Given the description of an element on the screen output the (x, y) to click on. 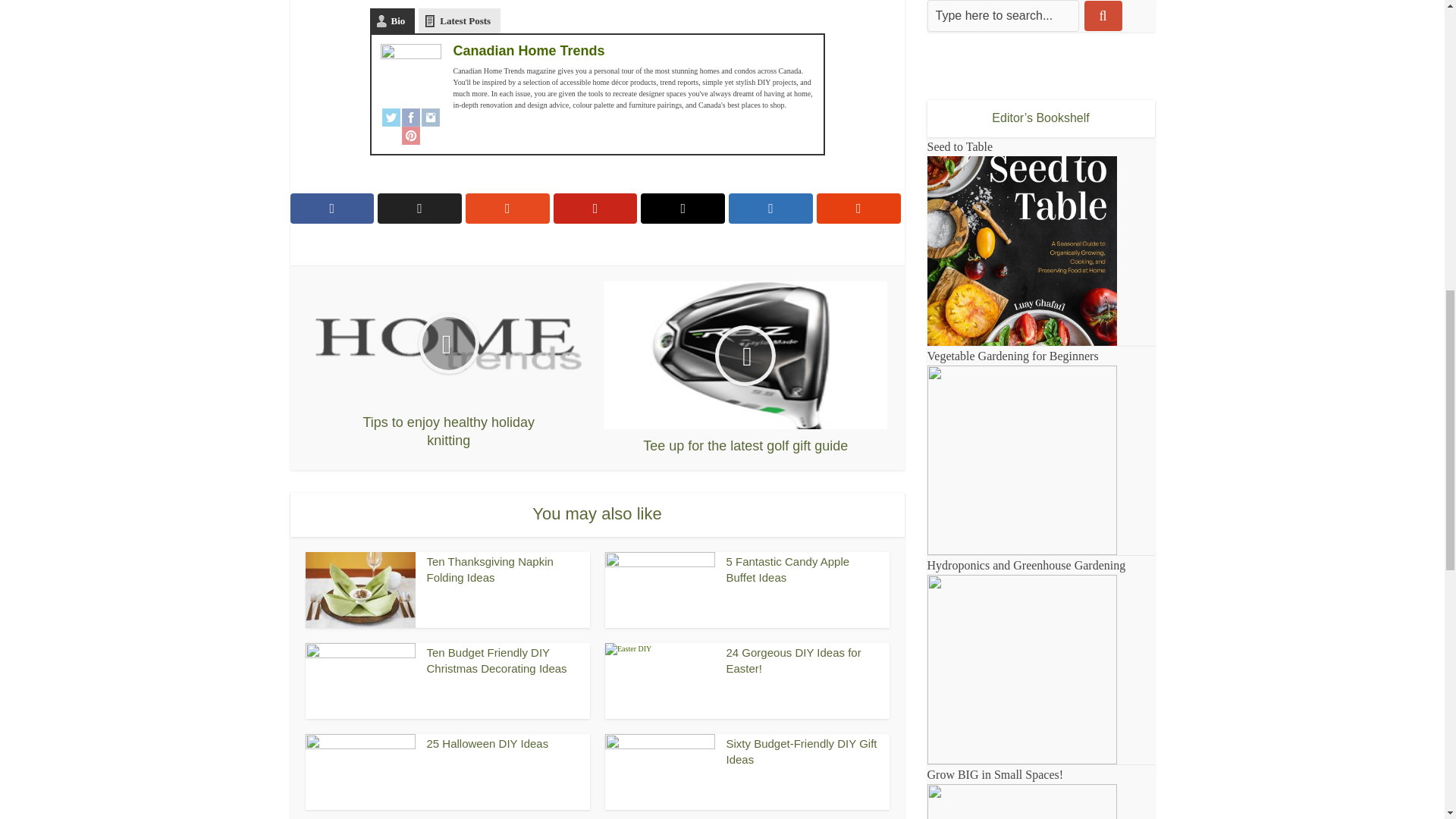
Ten Budget Friendly DIY Christmas Decorating Ideas (496, 660)
Type here to search... (1002, 15)
Twitter (390, 117)
5 Fantastic Candy Apple Buffet Ideas (788, 569)
24 Gorgeous DIY Ideas for Easter! (793, 660)
Ten Thanksgiving Napkin Folding Ideas (489, 569)
Type here to search... (1002, 15)
Pinterest (410, 135)
Instagram (430, 117)
Facebook (410, 117)
